Given the description of an element on the screen output the (x, y) to click on. 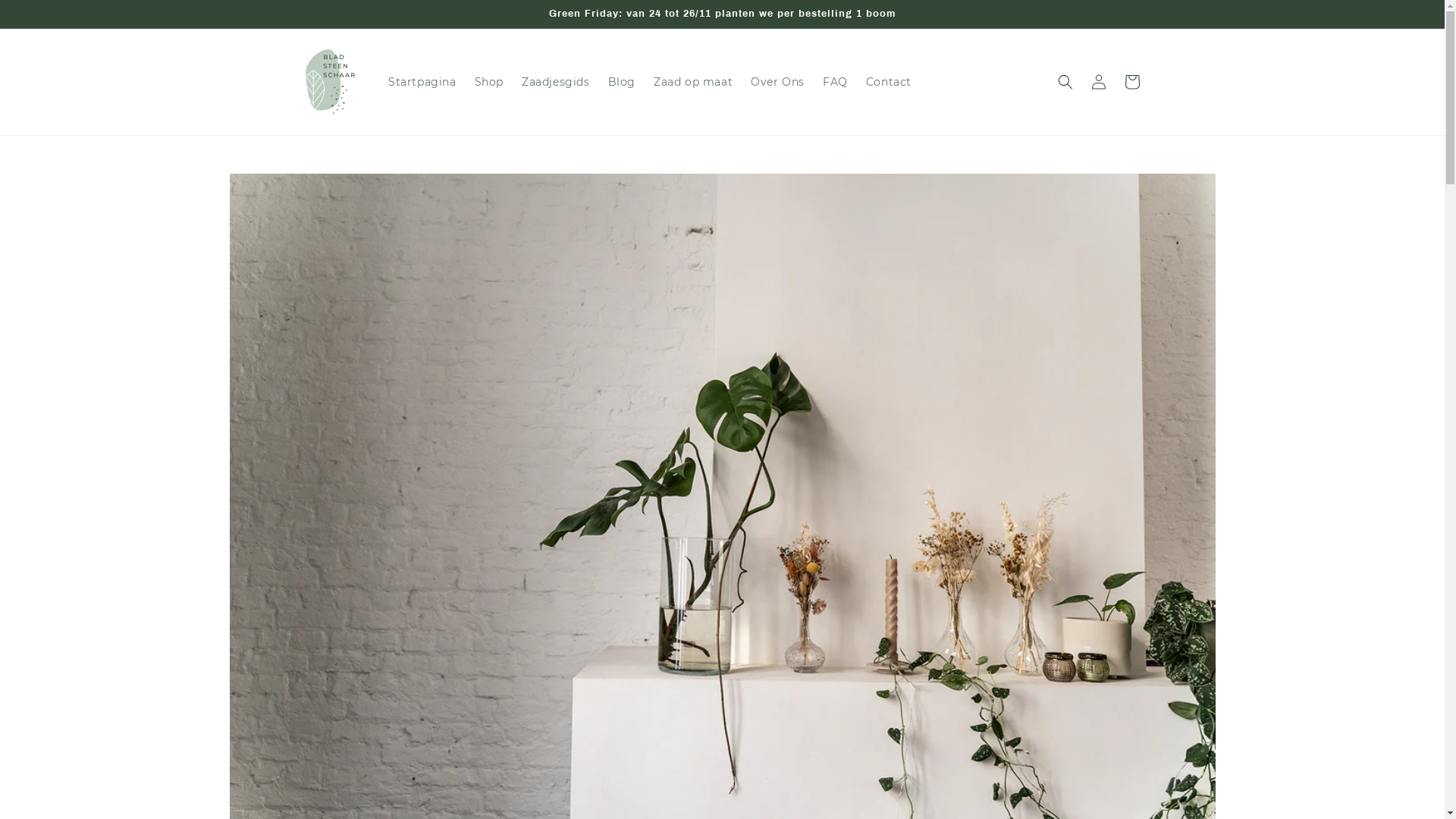
Contact Element type: text (888, 81)
Inloggen Element type: text (1097, 81)
Winkelwagen Element type: text (1131, 81)
Zaad op maat Element type: text (692, 81)
Shop Element type: text (488, 81)
Zaadjesgids Element type: text (555, 81)
FAQ Element type: text (834, 81)
Startpagina Element type: text (422, 81)
Over Ons Element type: text (777, 81)
Blog Element type: text (621, 81)
